Given the description of an element on the screen output the (x, y) to click on. 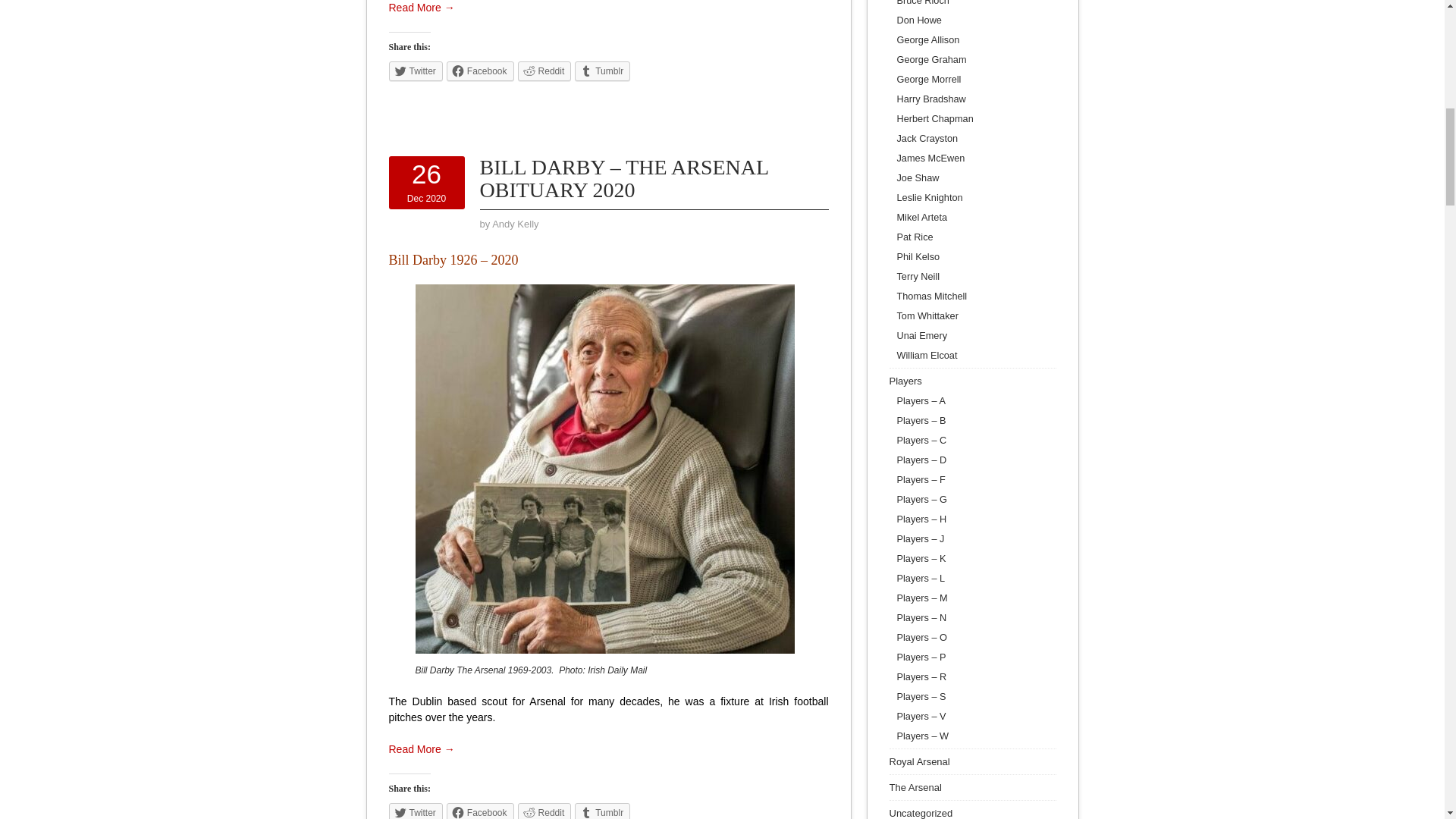
Click to share on Facebook (479, 811)
Click to share on Tumblr (602, 71)
Reddit (545, 71)
Click to share on Reddit (545, 71)
Facebook (479, 71)
Facebook (479, 811)
Click to share on Facebook (479, 71)
26 December 2020 11:00 am (426, 182)
Andy Kelly (515, 224)
Reddit (545, 811)
